Given the description of an element on the screen output the (x, y) to click on. 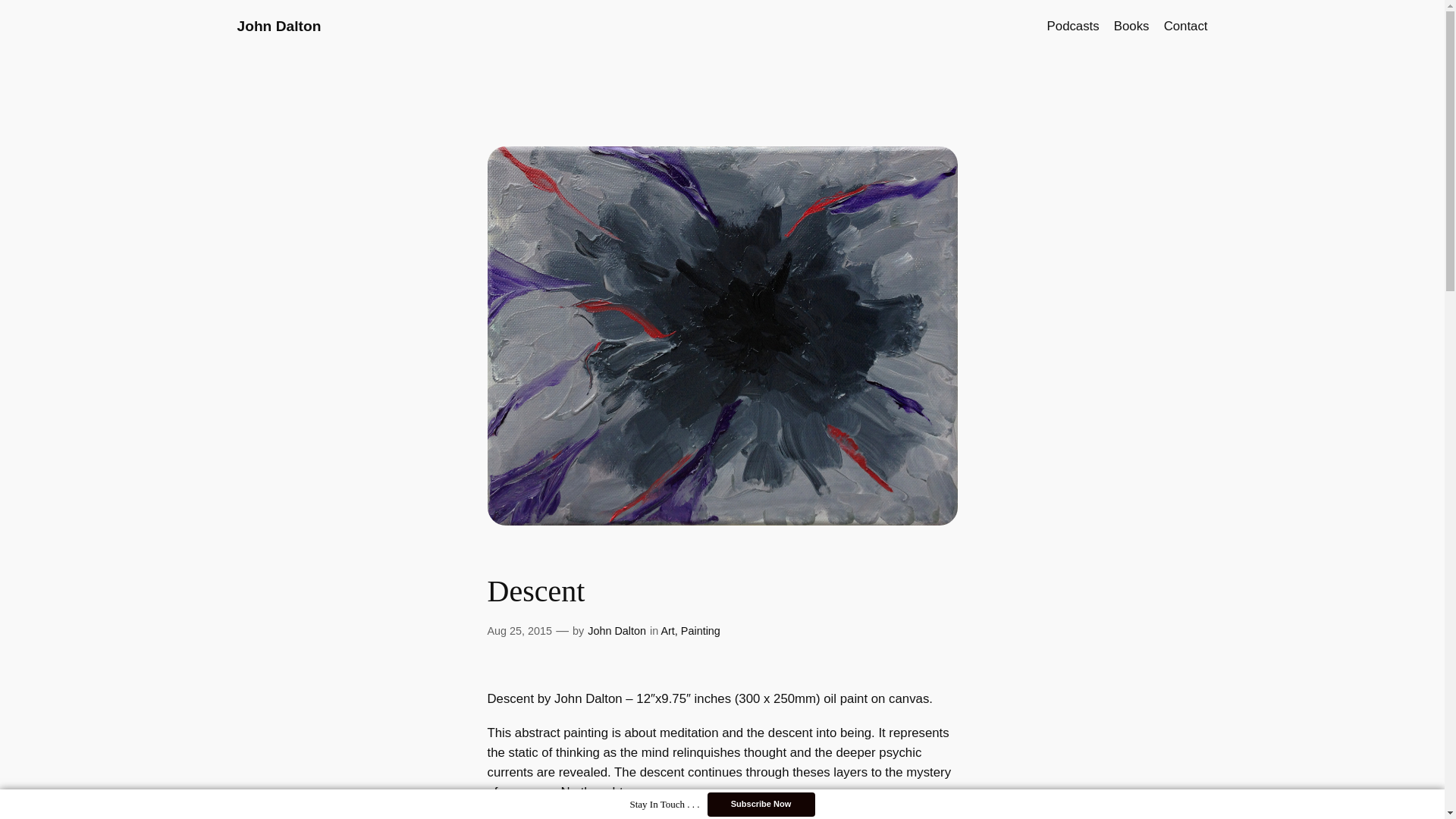
Painting (700, 630)
Aug 25, 2015 (518, 630)
Books (1131, 26)
Art (667, 630)
John Dalton (617, 630)
Podcasts (1072, 26)
Subscribe Now (759, 803)
Contact (1185, 26)
John Dalton (277, 26)
